Given the description of an element on the screen output the (x, y) to click on. 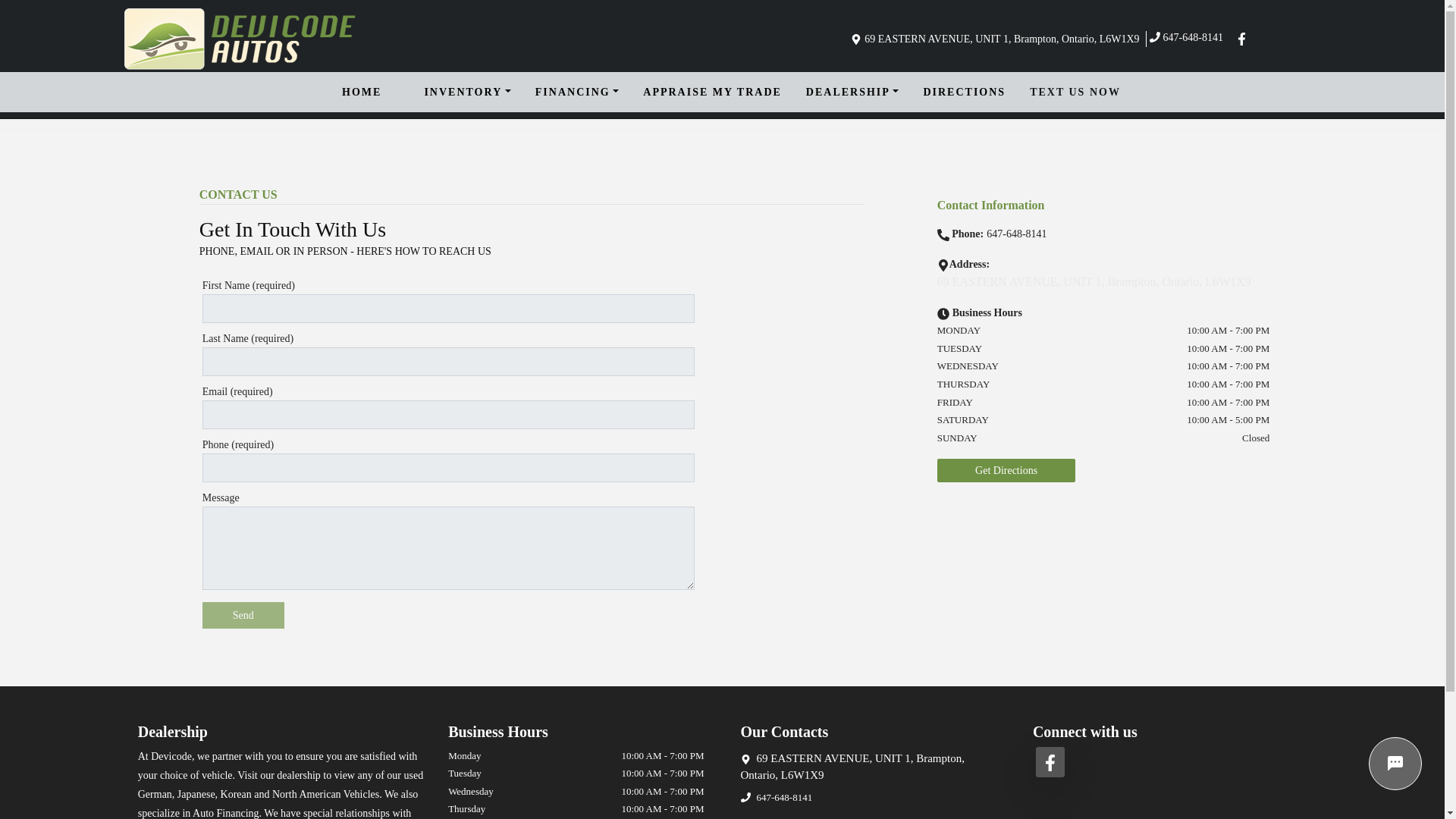
69 EASTERN AVENUE, UNIT 1, Brampton, Ontario, L6W1X9 (994, 38)
FINANCING (576, 91)
647-648-8141 (1189, 37)
Phone:647-648-8141 (999, 232)
DEALERSHIP (852, 91)
647-648-8141 (784, 797)
APPRAISE MY TRADE (712, 91)
HOME (361, 91)
DIRECTIONS (964, 91)
69 EASTERN AVENUE, UNIT 1, Brampton, Ontario, L6W1X9 (867, 766)
Online Chat (1395, 763)
TEXT US NOW (1075, 91)
Send (242, 614)
INVENTORY (467, 91)
Get Directions (1006, 470)
